Given the description of an element on the screen output the (x, y) to click on. 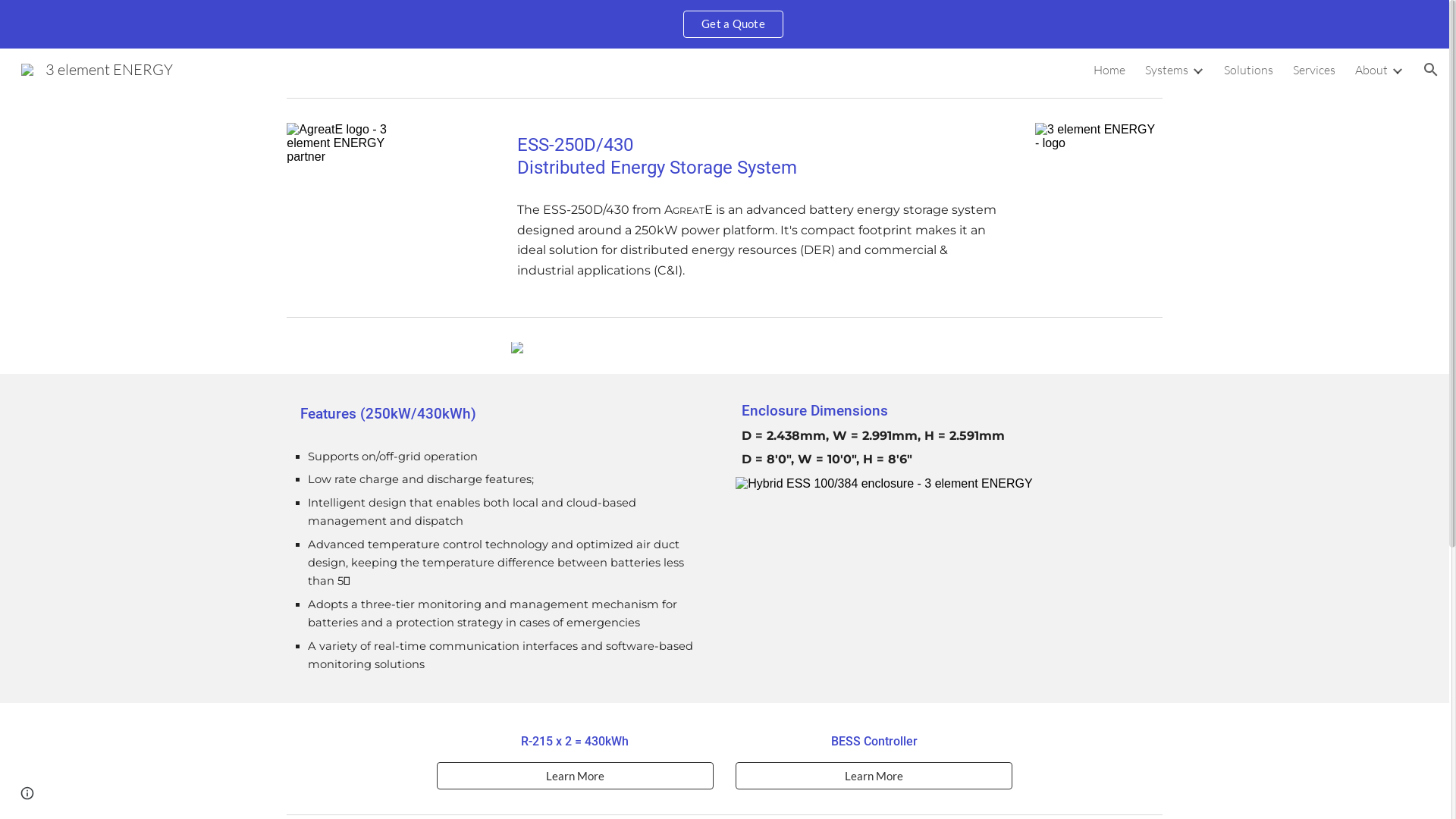
Home Element type: text (1109, 69)
Expand/Collapse Element type: hover (1396, 69)
Get a Quote Element type: text (733, 24)
Solutions Element type: text (1248, 69)
Services Element type: text (1313, 69)
3 element ENERGY Element type: text (97, 67)
About Element type: text (1371, 69)
Learn More Element type: text (873, 775)
Learn More Element type: text (574, 775)
Systems Element type: text (1166, 69)
Expand/Collapse Element type: hover (1197, 69)
